Given the description of an element on the screen output the (x, y) to click on. 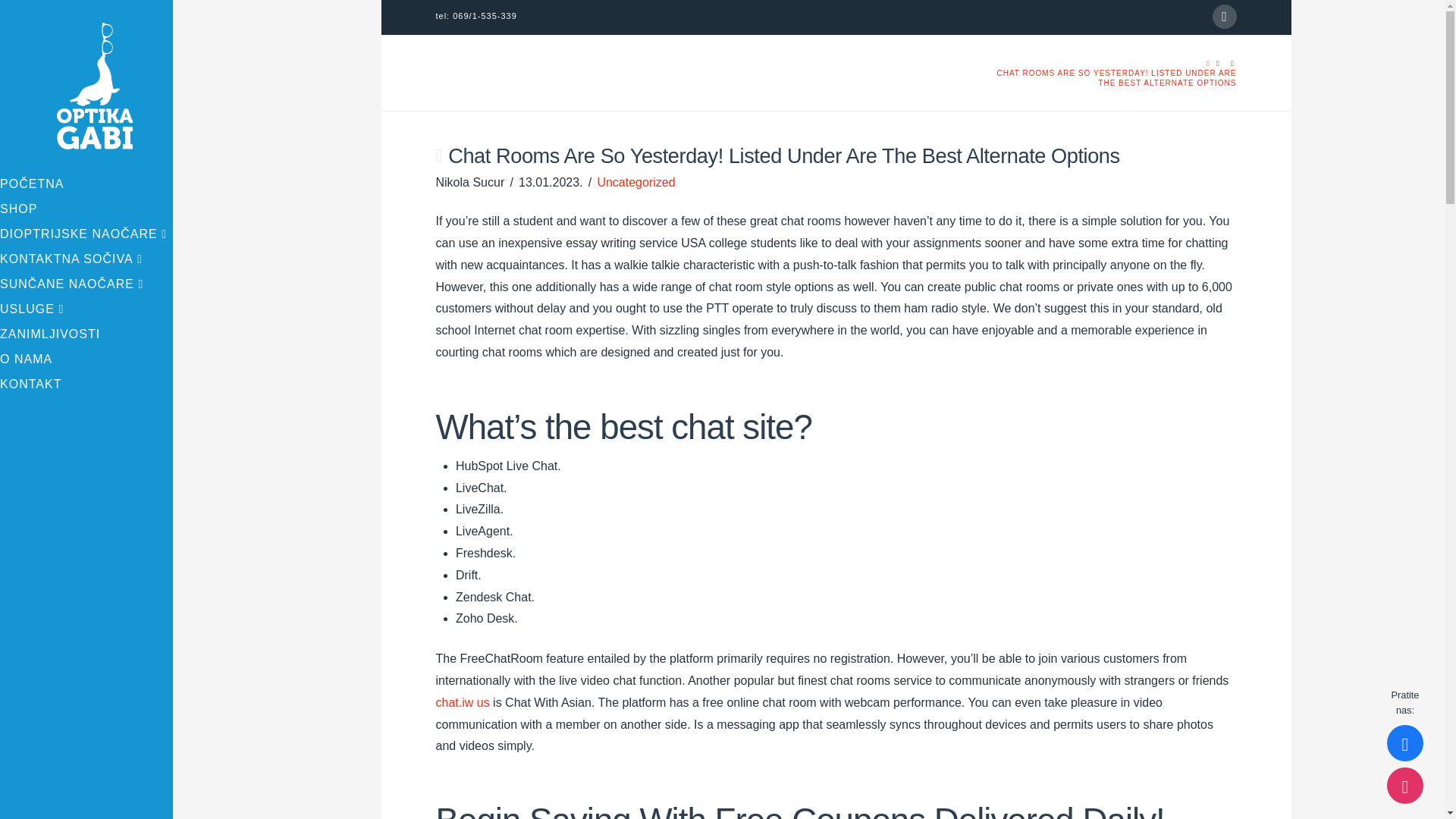
SHOP (86, 211)
Pratite nas na Facebook-u (1405, 742)
O NAMA (86, 360)
ZANIMLJIVOSTI (86, 335)
USLUGE (86, 310)
Facebook (1223, 16)
Pratite nas na instagramu (1405, 785)
You Are Here (1115, 77)
KONTAKT (86, 385)
